Given the description of an element on the screen output the (x, y) to click on. 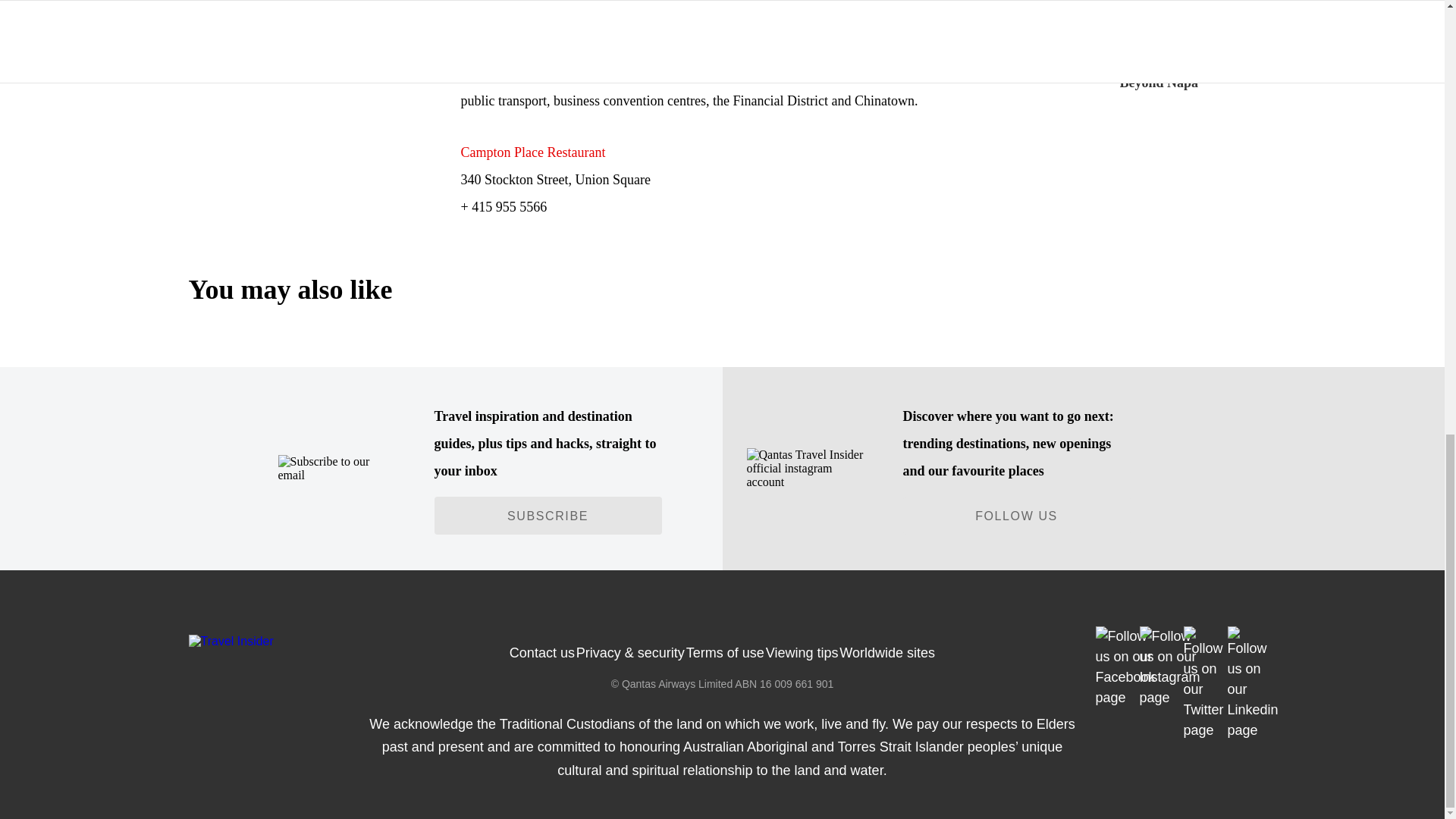
Campton Place Restaurant (533, 151)
Travel Insider (347, 640)
Travel Insider (230, 641)
Follow us on our Twitter page (1202, 683)
Qantas Travel Insider official instagram account (805, 467)
Follow us on our Instagram page (1168, 667)
Follow us on our Facebook page (1124, 667)
Follow us on our Linkedin page (1252, 683)
Subscribe to our email (337, 468)
